Given the description of an element on the screen output the (x, y) to click on. 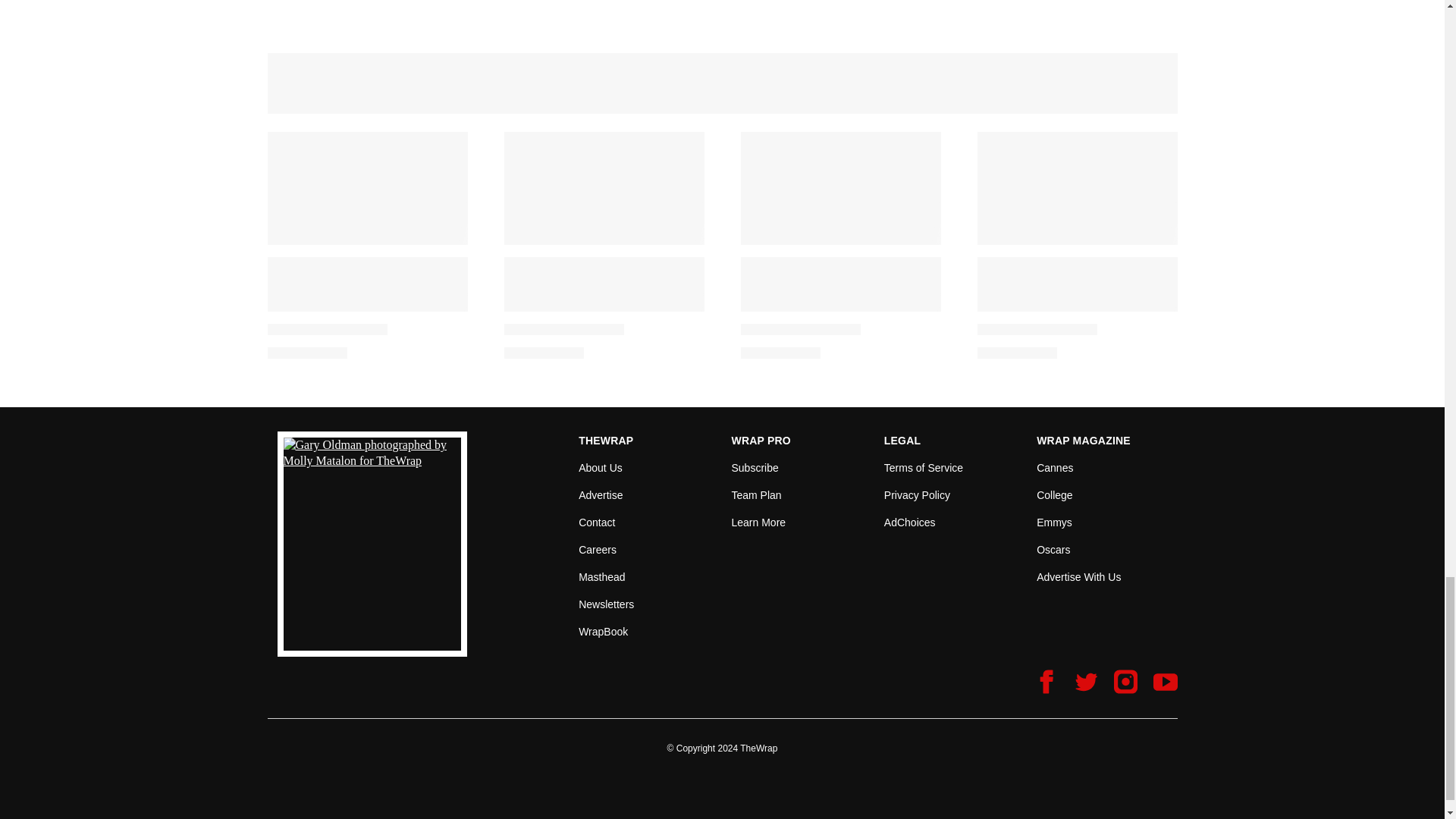
Learn more about becoming a member (758, 522)
